Given the description of an element on the screen output the (x, y) to click on. 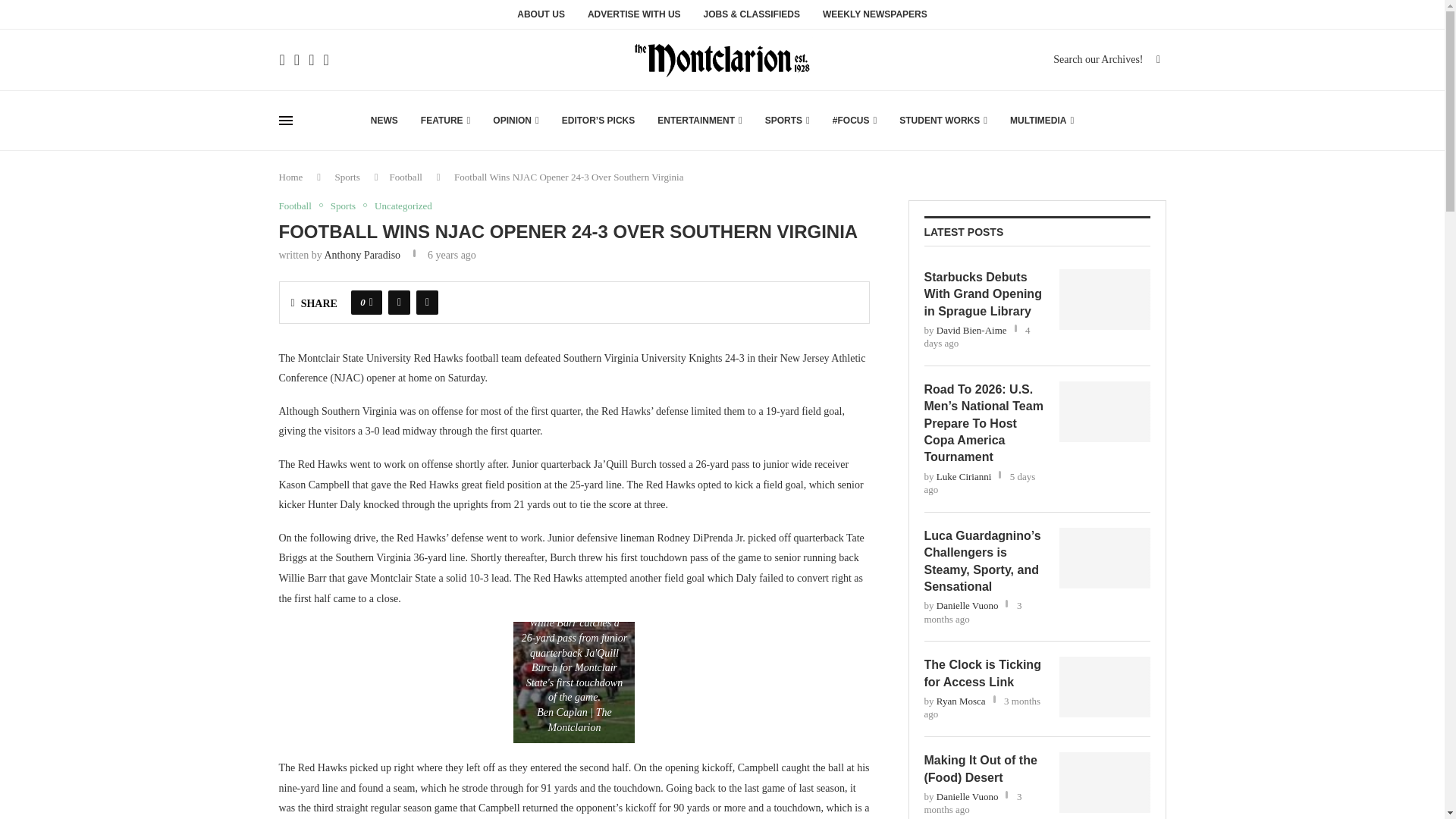
Anthony Paradiso (361, 255)
Starbucks Debuts With Grand Opening in Sprague Library (983, 294)
OPINION (515, 120)
SPORTS (787, 120)
Starbucks Debuts With Grand Opening in Sprague Library (1104, 299)
WEEKLY NEWSPAPERS (874, 18)
ABOUT US (540, 18)
ENTERTAINMENT (700, 120)
FEATURE (445, 120)
ADVERTISE WITH US (634, 18)
